Given the description of an element on the screen output the (x, y) to click on. 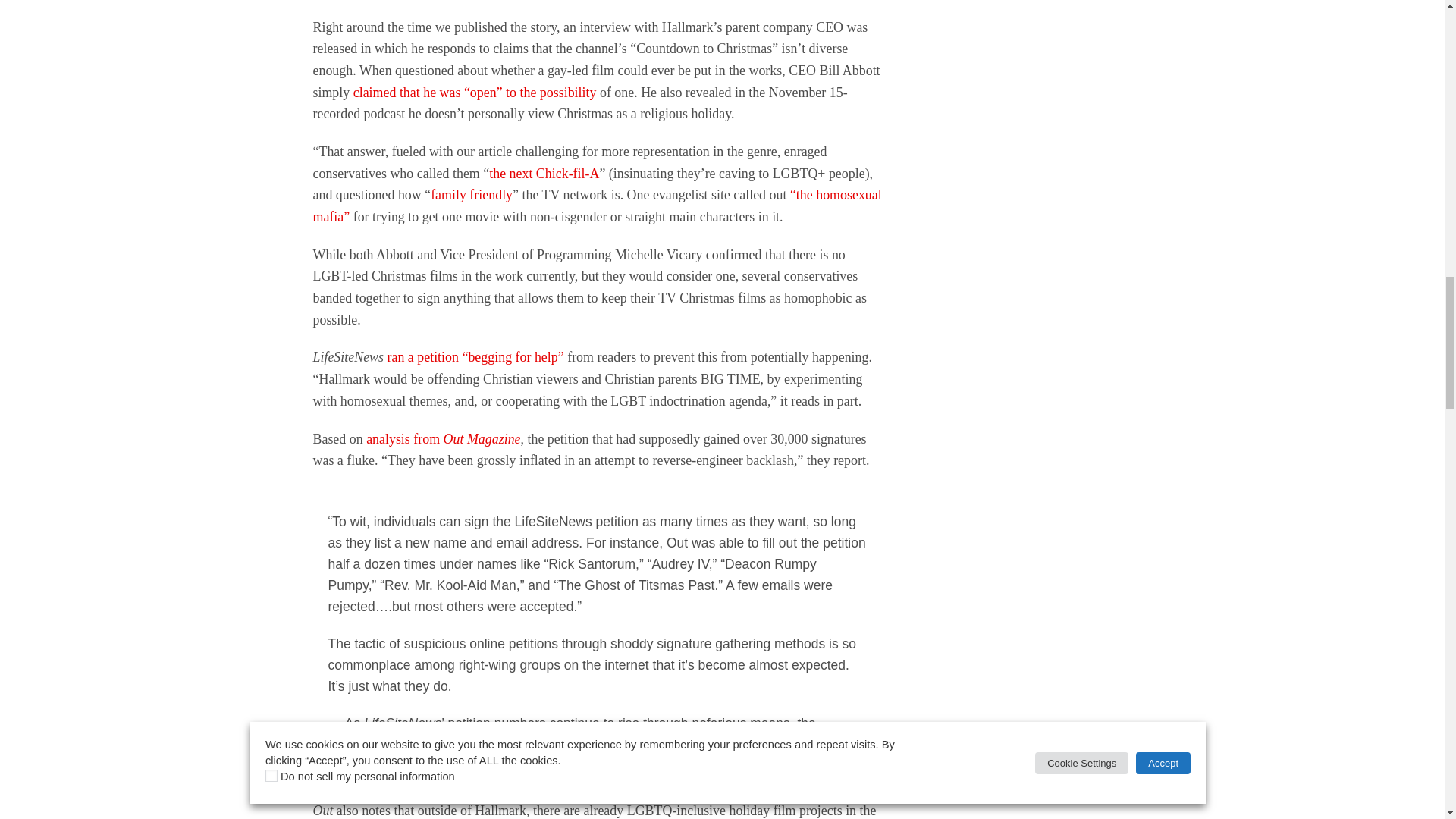
family friendly (471, 194)
the next Chick-fil-A (543, 173)
analysis from Out Magazine (442, 437)
